Given the description of an element on the screen output the (x, y) to click on. 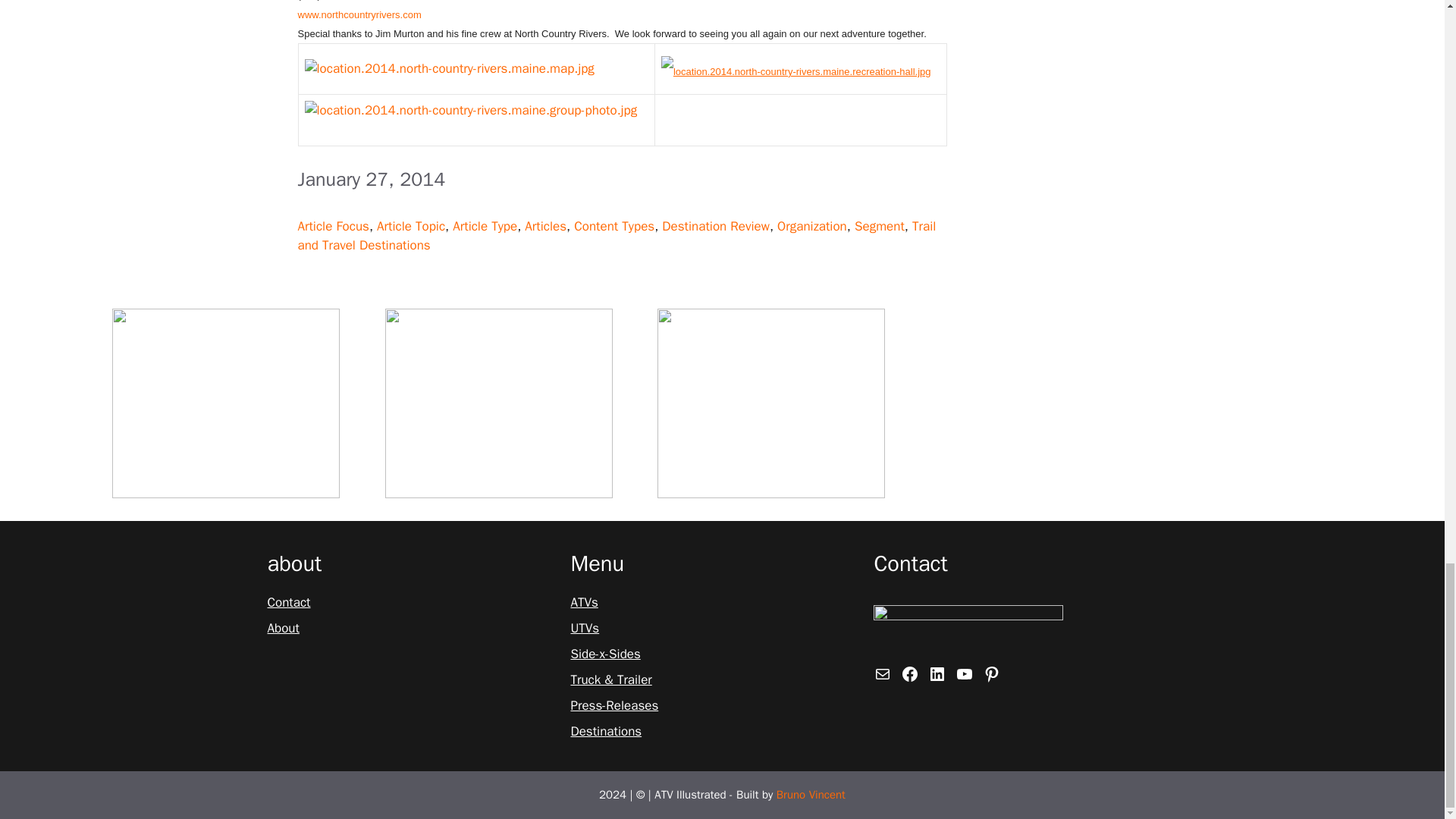
Content Types (613, 226)
Article Focus (332, 226)
www.northcountryrivers.com (358, 13)
Article Type (484, 226)
Logo-250-w (967, 629)
Article Topic (411, 226)
Articles (545, 226)
